Given the description of an element on the screen output the (x, y) to click on. 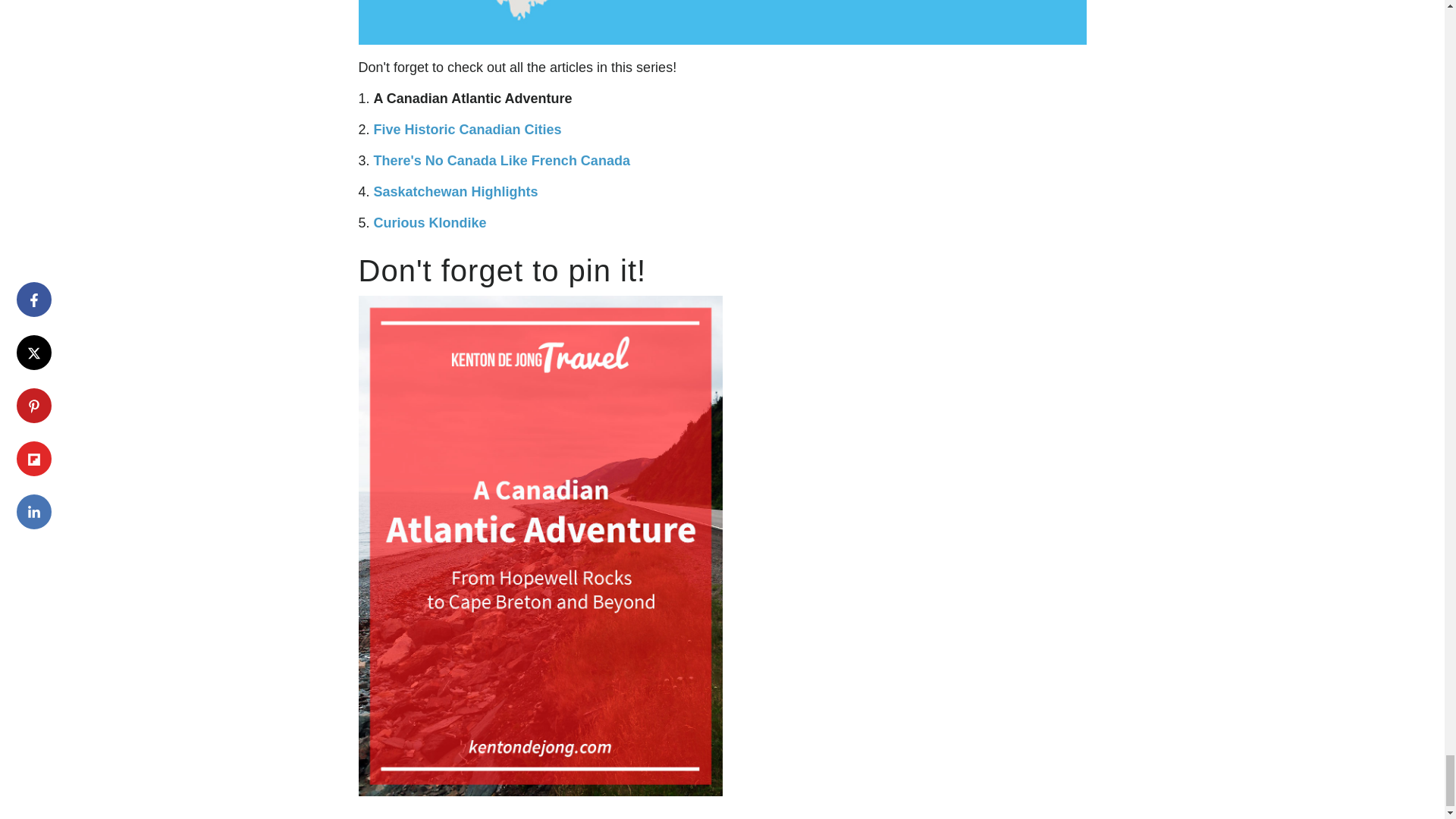
Curious Klondike (430, 222)
Saskatchewan Highlights (456, 191)
There's No Canada Like French Canada (502, 160)
Five Historic Canadian Cities (468, 129)
